Given the description of an element on the screen output the (x, y) to click on. 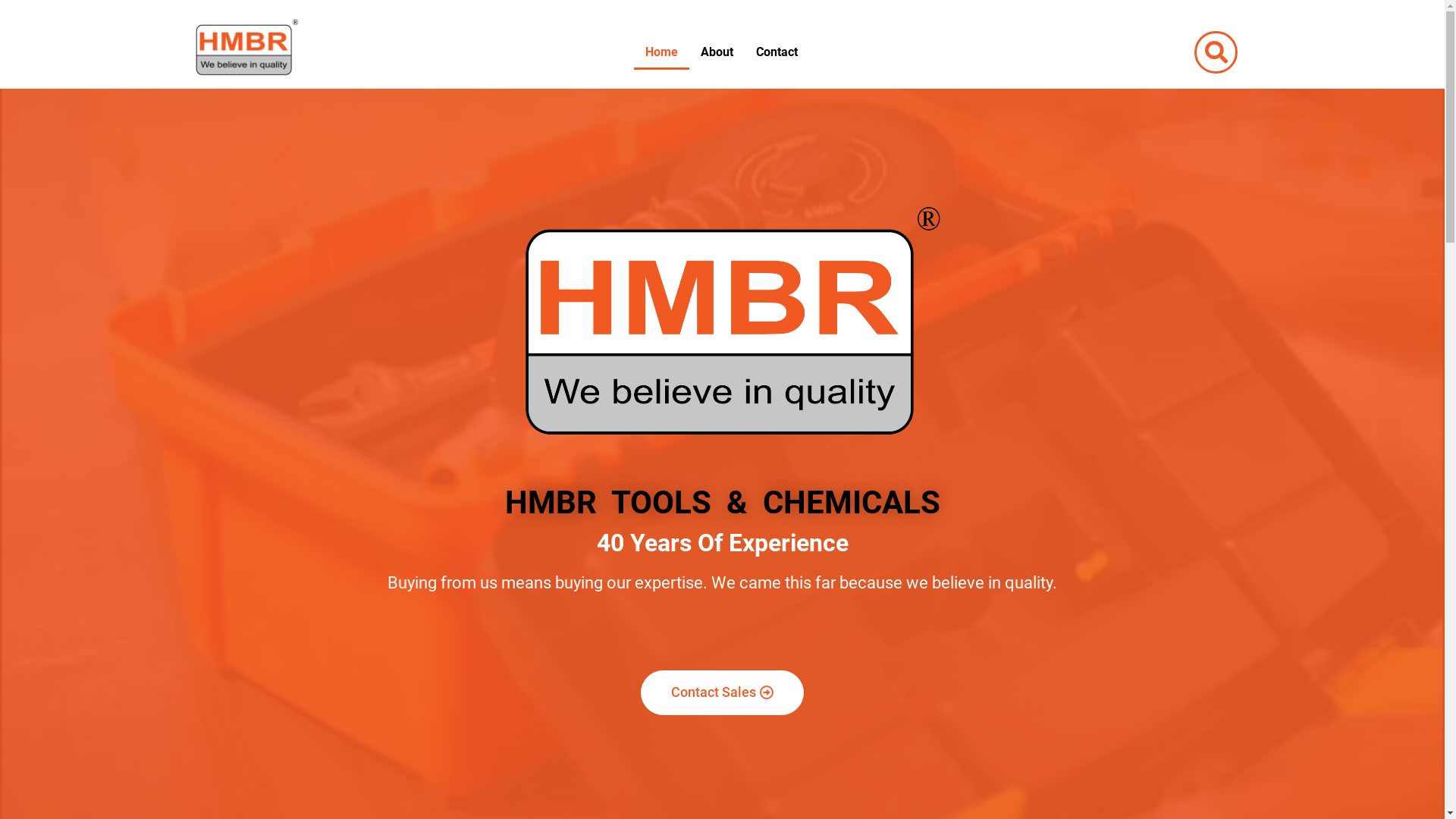
Search Element type: hover (1210, 52)
Home Element type: text (661, 51)
About Element type: text (716, 51)
Contact Element type: text (776, 51)
HMBR TOOLS & CHEMICALS Element type: text (721, 502)
Contact Sales Element type: text (721, 692)
